Given the description of an element on the screen output the (x, y) to click on. 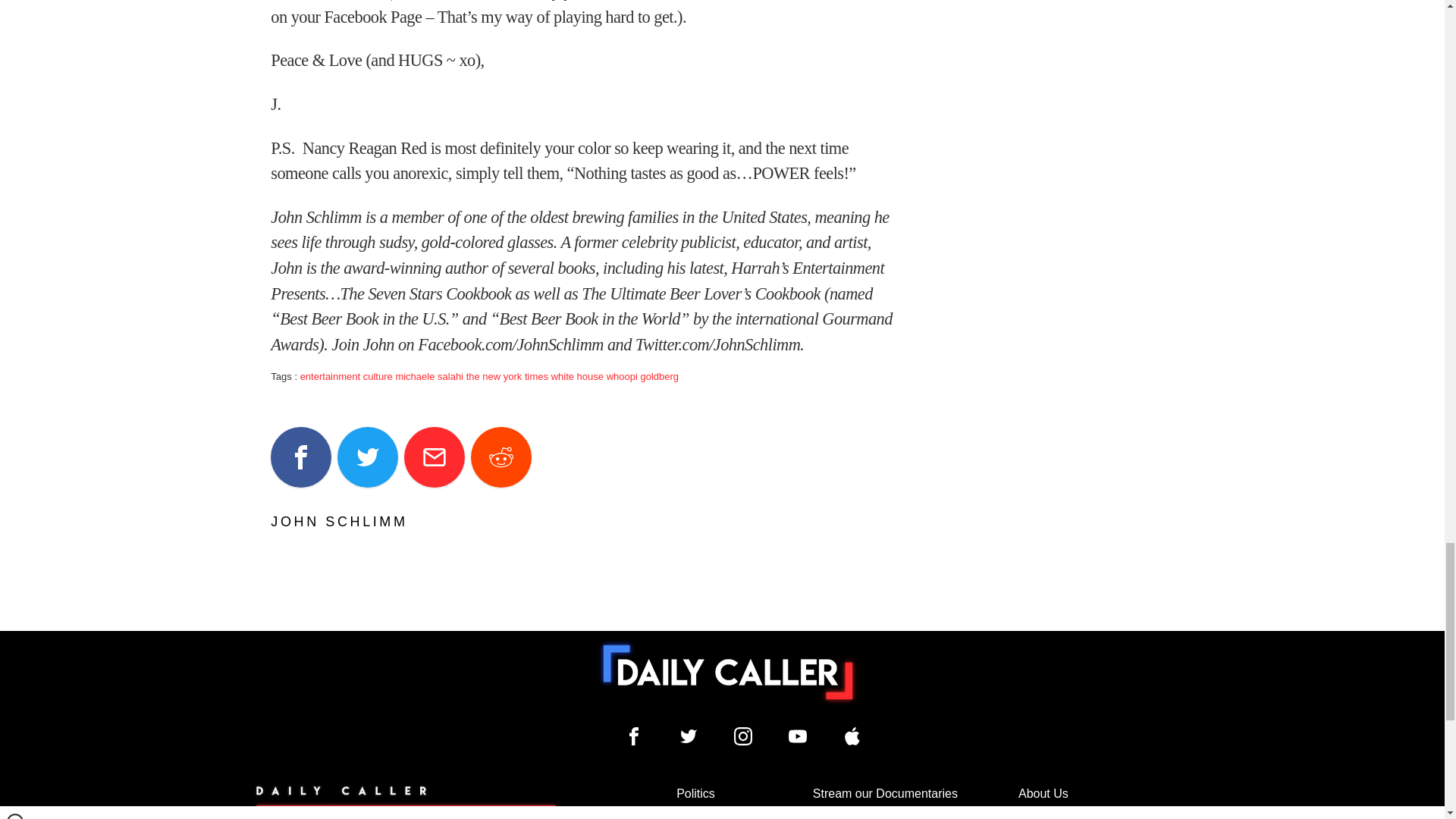
To home page (727, 672)
Daily Caller Facebook (633, 736)
Daily Caller Instagram (742, 736)
Daily Caller Twitter (688, 736)
michaele salahi (428, 376)
Daily Caller YouTube (852, 736)
entertainment culture (346, 376)
Daily Caller YouTube (797, 736)
Subscribe to The Daily Caller (405, 801)
